Given the description of an element on the screen output the (x, y) to click on. 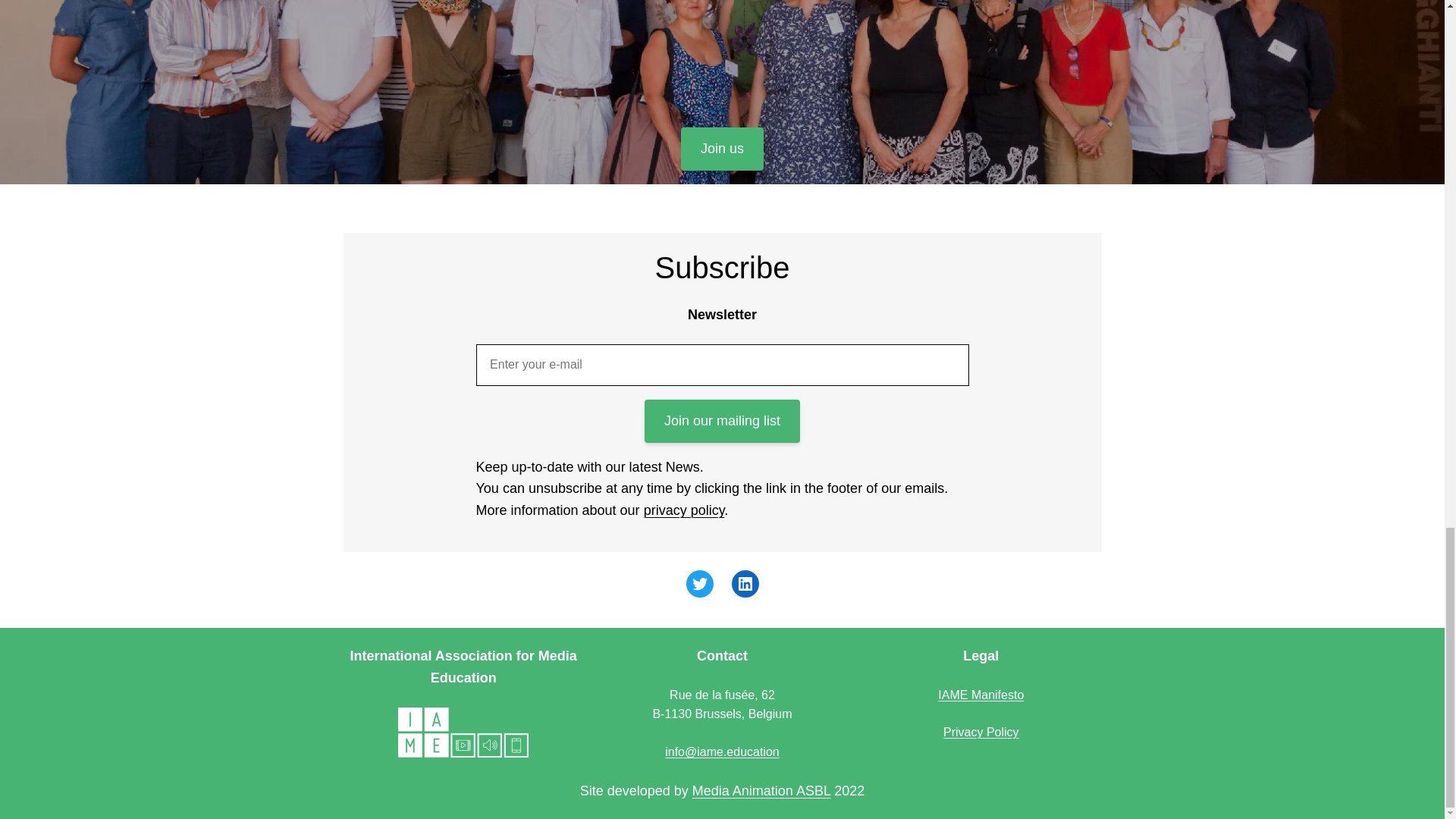
Media Animation ASBL (761, 790)
LinkedIn (744, 583)
Join us (721, 148)
Enter your e-mail (722, 364)
Join our mailing list (722, 421)
Privacy Policy (981, 731)
IAME Manifesto (980, 694)
Twitter (699, 583)
privacy policy (684, 509)
